Given the description of an element on the screen output the (x, y) to click on. 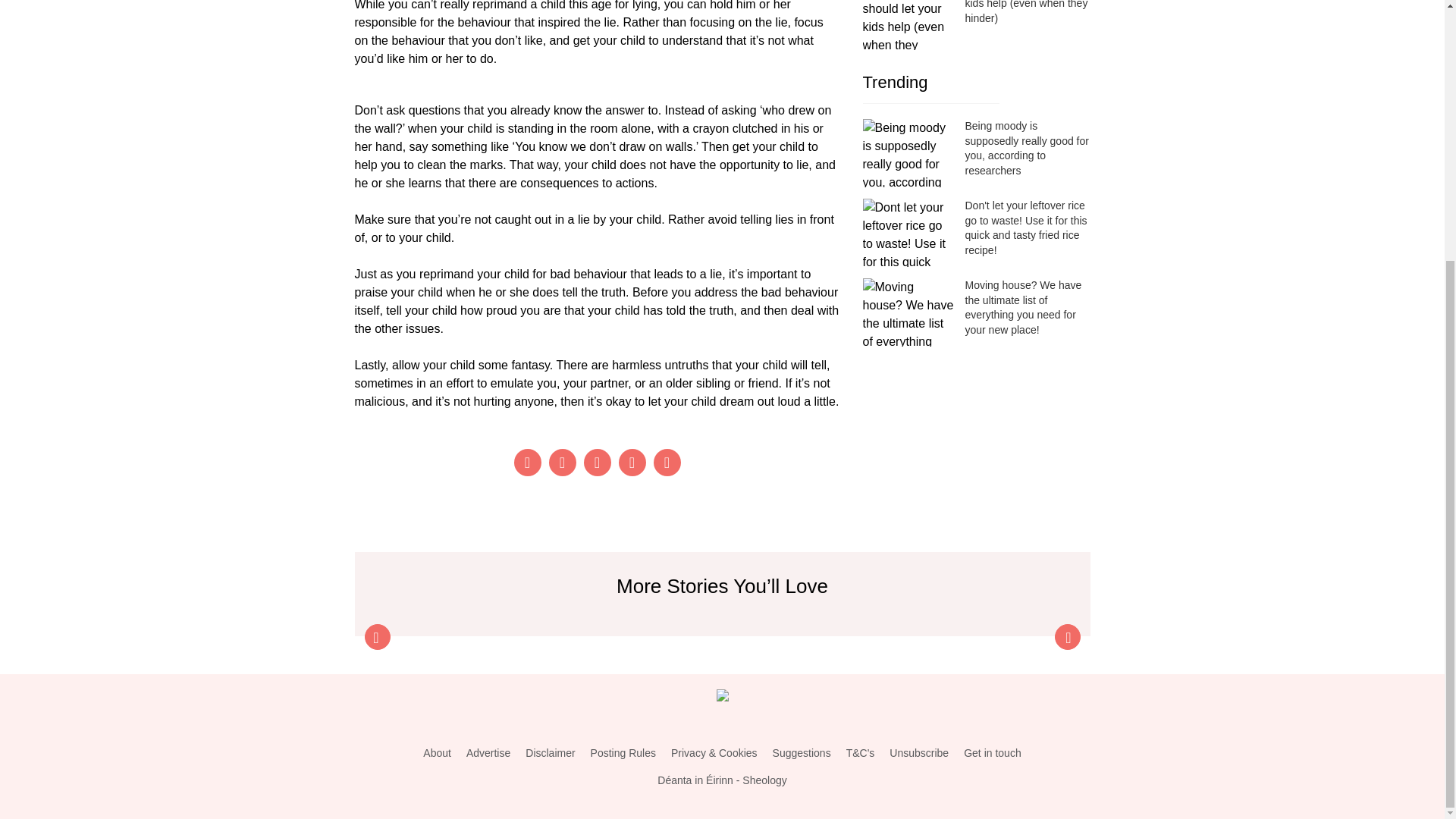
Get in touch (992, 753)
Posting Rules (623, 753)
Advertise (488, 753)
Disclaimer (550, 753)
Sheology (764, 779)
Suggestions (801, 753)
About (436, 753)
Email (667, 461)
Unsubscribe (919, 753)
